Given the description of an element on the screen output the (x, y) to click on. 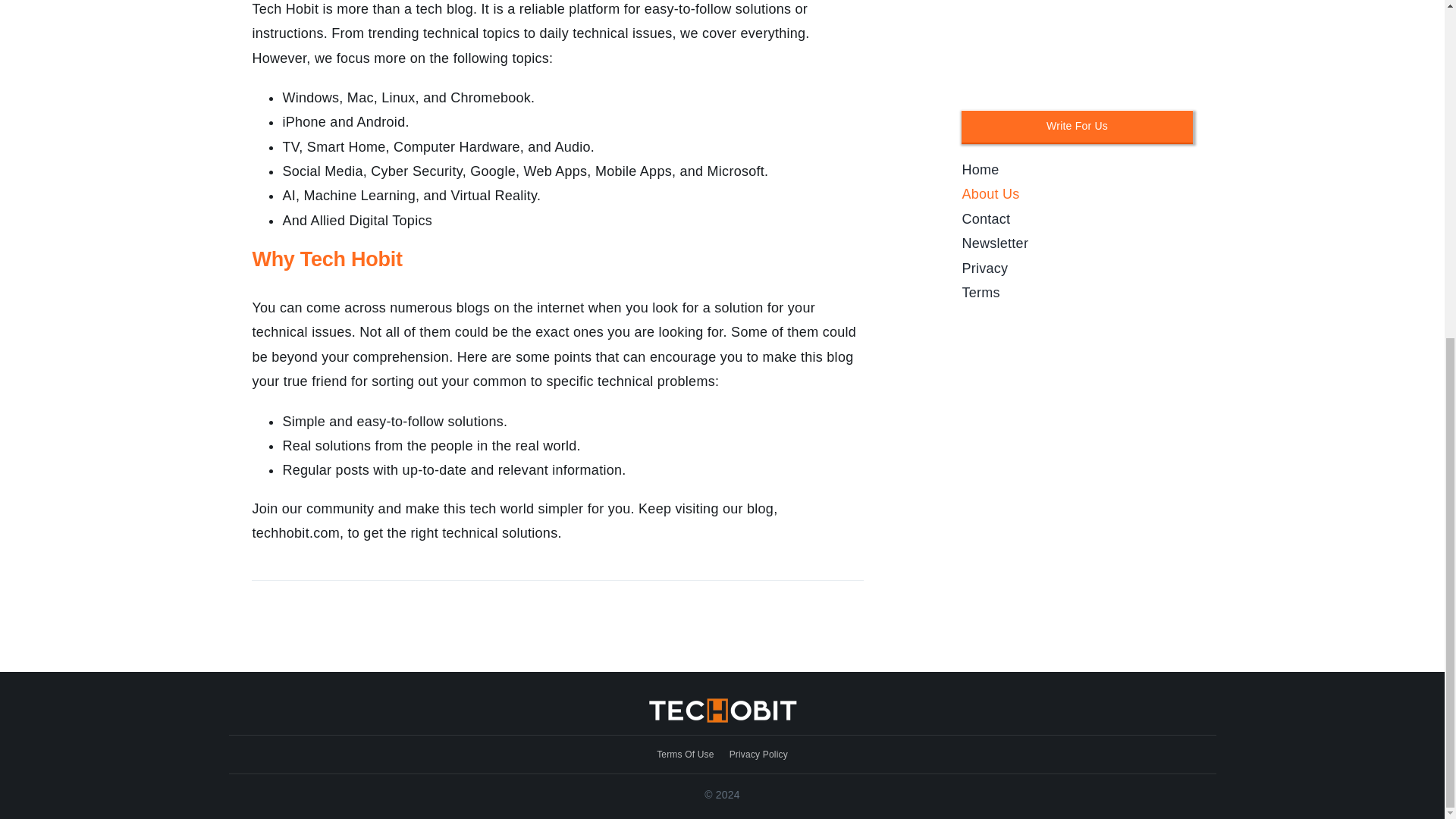
Terms Of Use (685, 754)
Privacy Policy (758, 754)
